Given the description of an element on the screen output the (x, y) to click on. 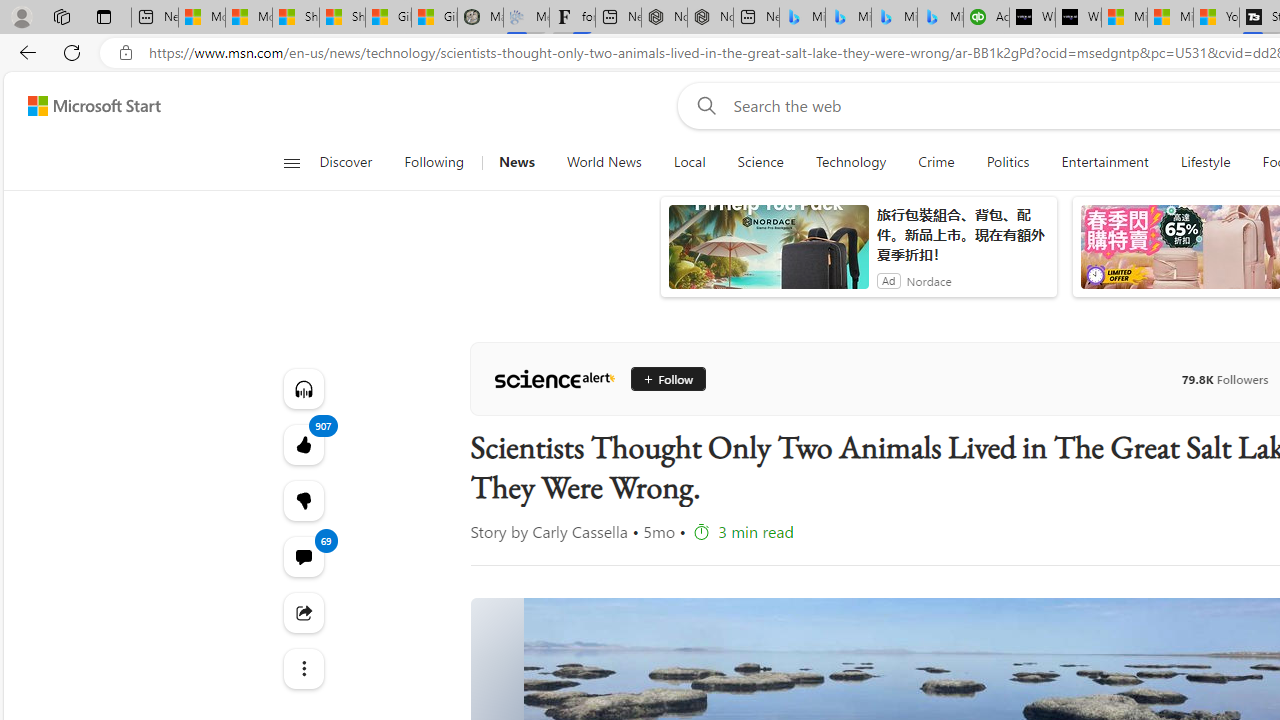
Shanghai, China weather forecast | Microsoft Weather (342, 17)
Politics (1007, 162)
Nordace - #1 Japanese Best-Seller - Siena Smart Backpack (710, 17)
Crime (935, 162)
Listen to this article (302, 388)
Technology (851, 162)
Crime (936, 162)
